Given the description of an element on the screen output the (x, y) to click on. 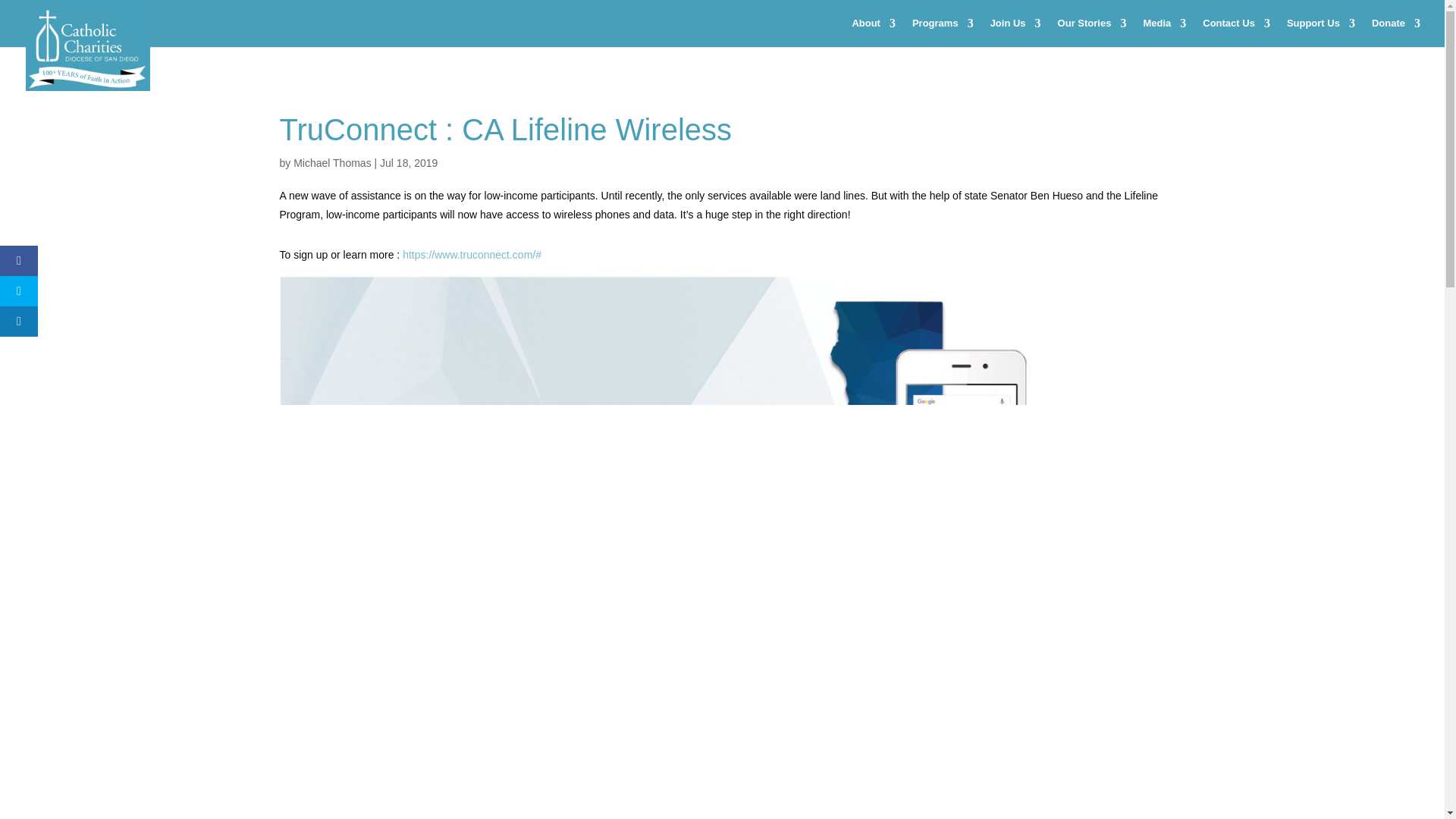
About (873, 32)
Programs (943, 32)
Our Stories (1092, 32)
Media (1164, 32)
Posts by Michael Thomas (332, 162)
Join Us (1015, 32)
